Given the description of an element on the screen output the (x, y) to click on. 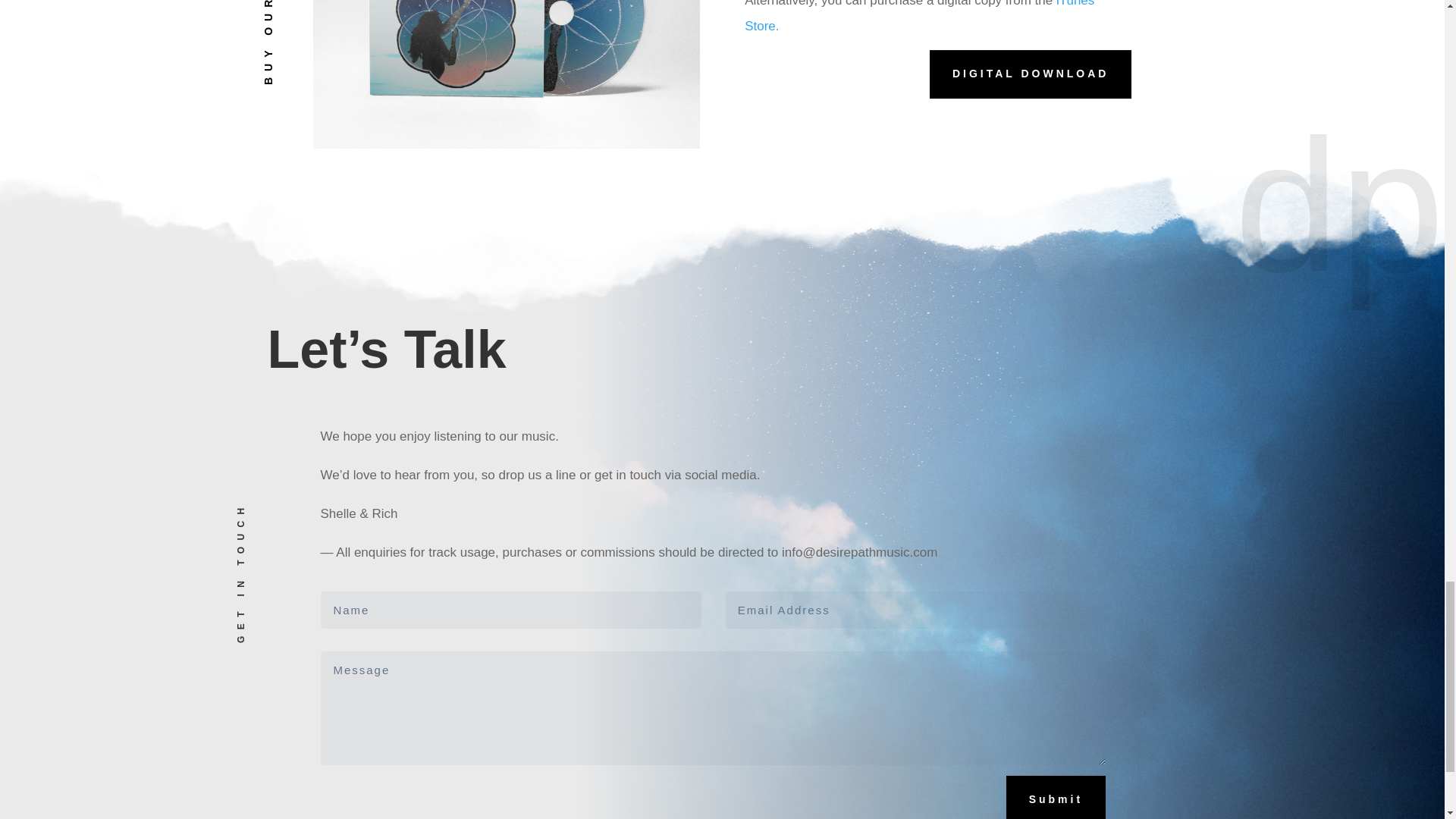
iTunes Store. (919, 16)
DIGITAL DOWNLOAD (1031, 74)
Submit (1055, 797)
Desire Path Music - Astralize (505, 74)
